Given the description of an element on the screen output the (x, y) to click on. 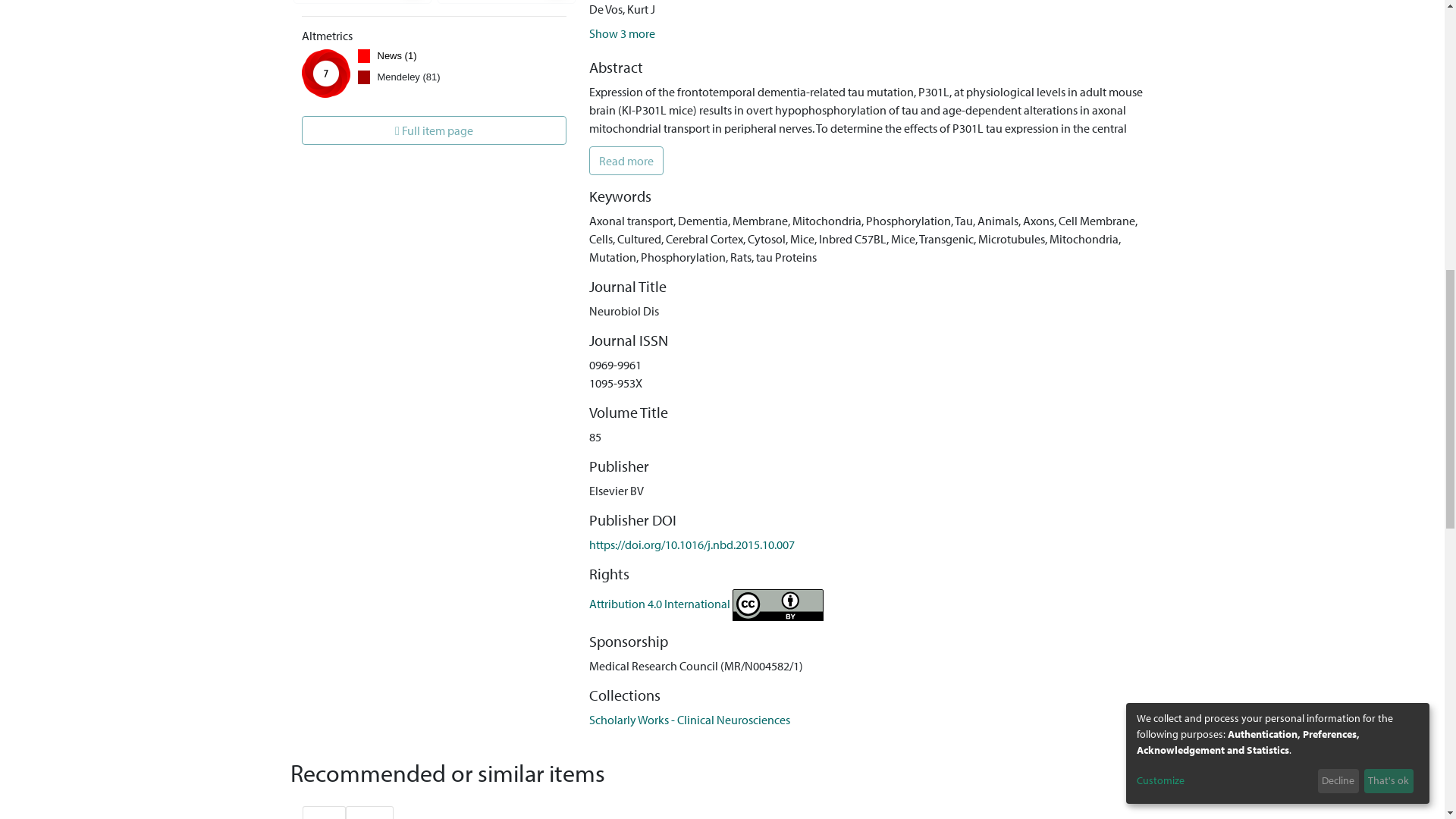
Show 3 more (622, 32)
Scholarly Works - Clinical Neurosciences (689, 719)
CORE (323, 812)
Full item page (434, 130)
Attribution 4.0 International (706, 603)
Read more (626, 160)
